Given the description of an element on the screen output the (x, y) to click on. 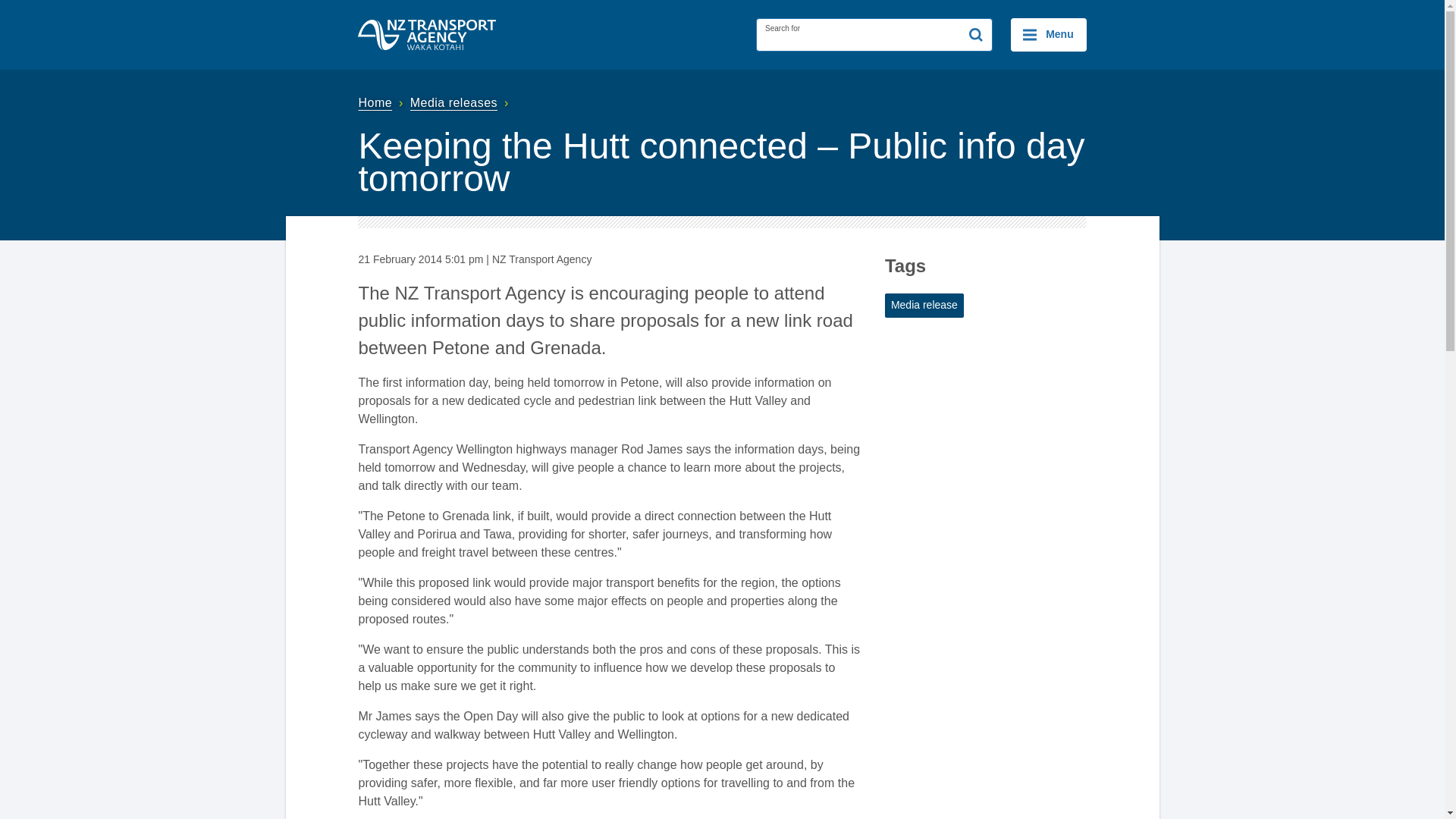
Home (382, 102)
Menu (1048, 34)
View all posts tagged 'Media release' (924, 305)
NZ Transport Agency Waka Kotahi (427, 34)
